Given the description of an element on the screen output the (x, y) to click on. 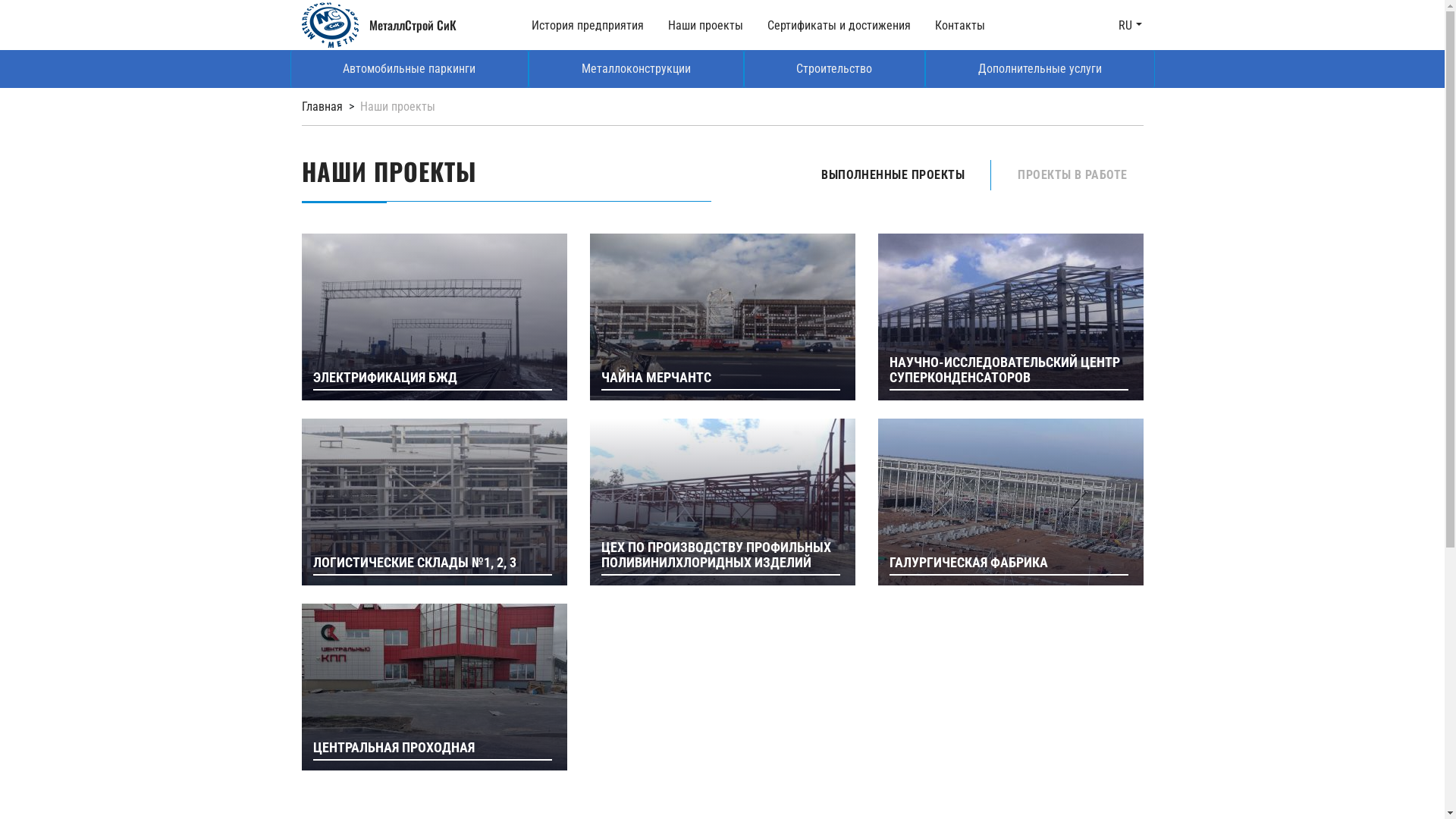
RU Element type: text (1129, 25)
